Given the description of an element on the screen output the (x, y) to click on. 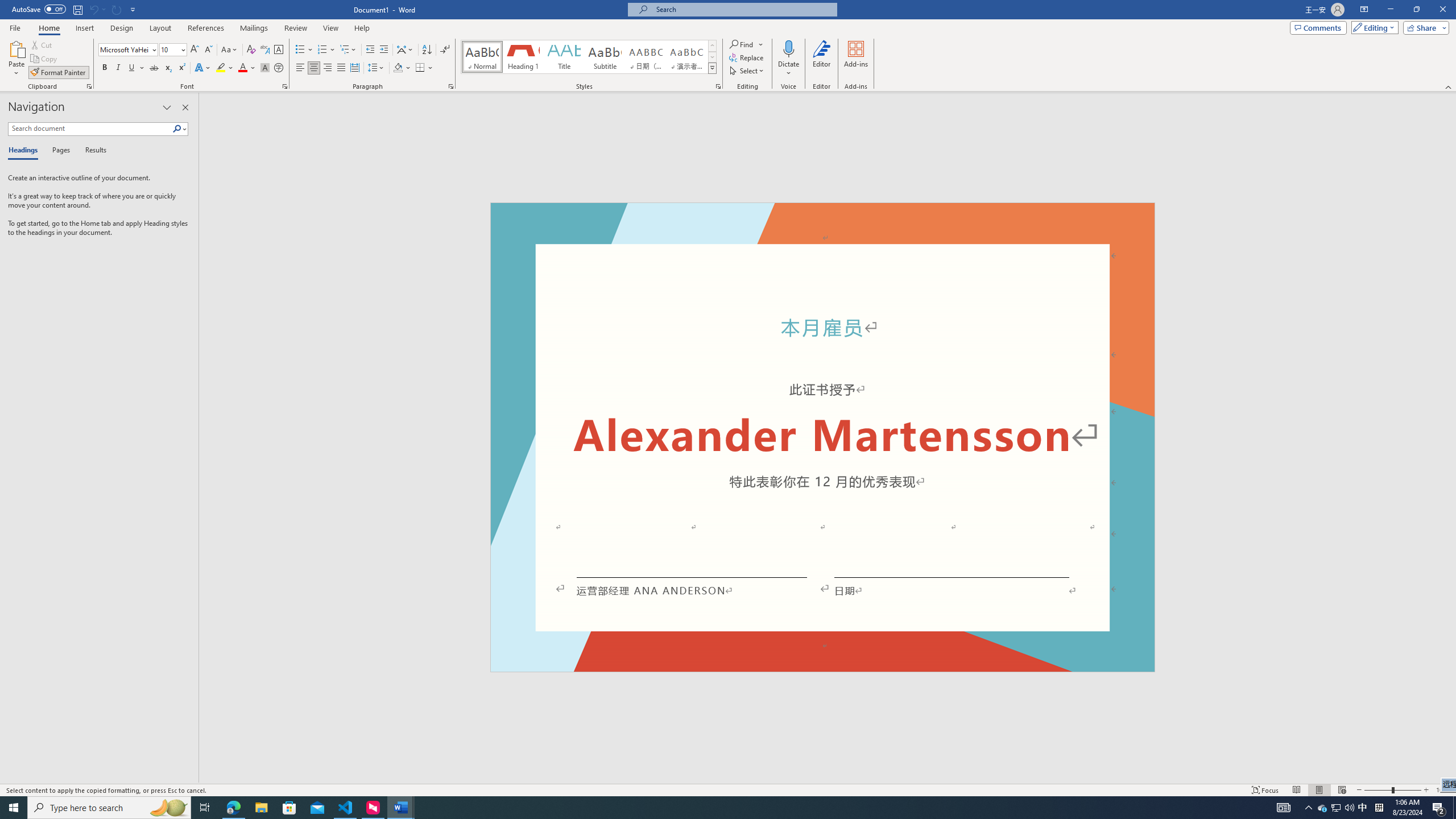
Find (742, 44)
References (205, 28)
Bullets (300, 49)
Minimize (1390, 9)
Headings (25, 150)
Font (128, 49)
System (6, 6)
Quick Access Toolbar (74, 9)
Sort... (426, 49)
Class: NetUIScrollBar (1450, 437)
Font Color (246, 67)
Pages (59, 150)
Save (77, 9)
Styles (711, 67)
